Given the description of an element on the screen output the (x, y) to click on. 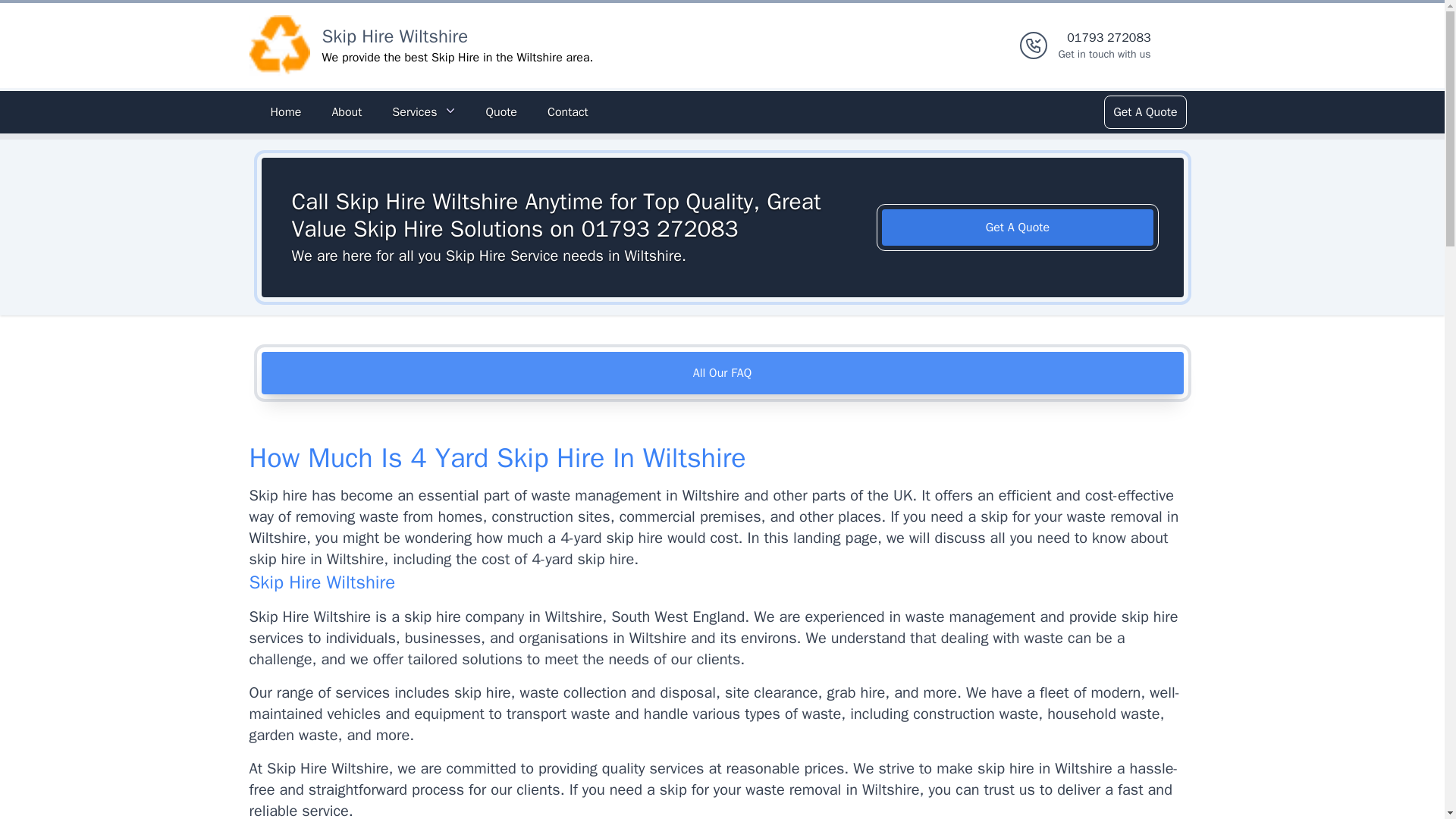
Contact (1104, 45)
Get A Quote (567, 112)
Quote (1144, 112)
About (500, 112)
Home (346, 112)
All Our FAQ (285, 112)
Get A Quote (721, 372)
Logo (1017, 227)
Skip Hire Wiltshire (278, 45)
Services (394, 36)
